Given the description of an element on the screen output the (x, y) to click on. 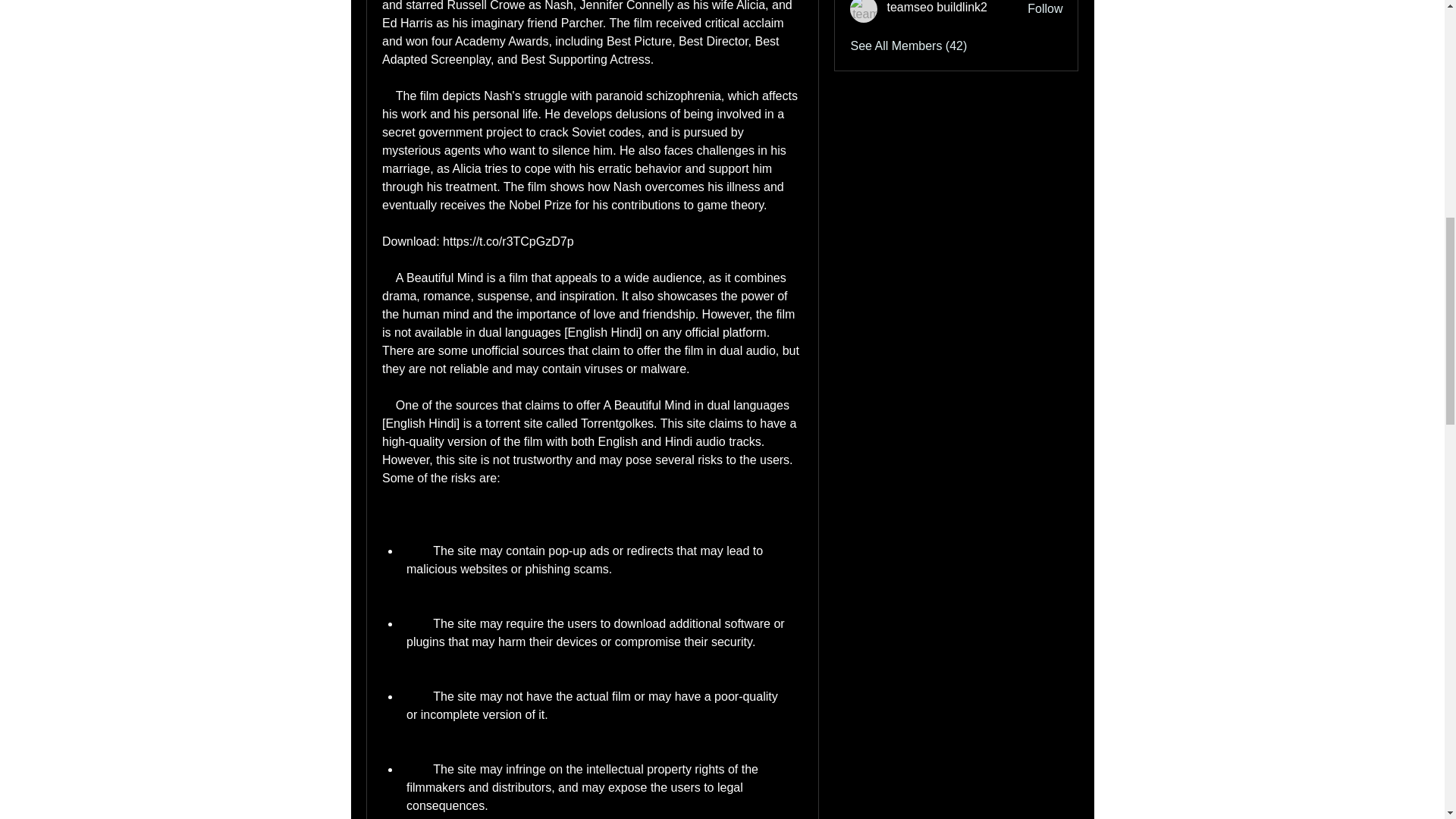
Follow (1044, 8)
teamseo buildlink2 (863, 11)
teamseo buildlink2 (936, 8)
